Given the description of an element on the screen output the (x, y) to click on. 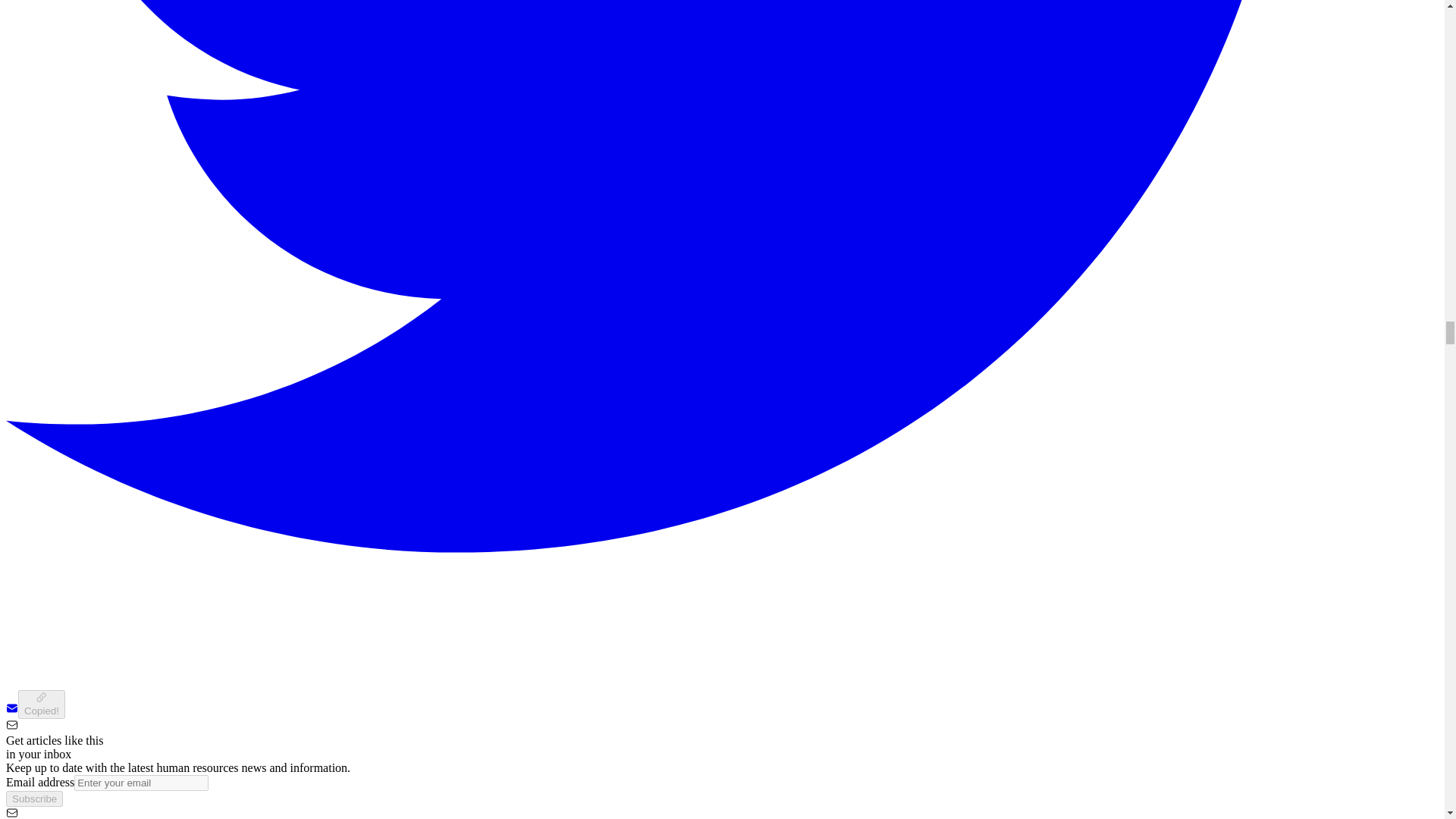
Copied! (41, 704)
Subscribe (33, 798)
